Given the description of an element on the screen output the (x, y) to click on. 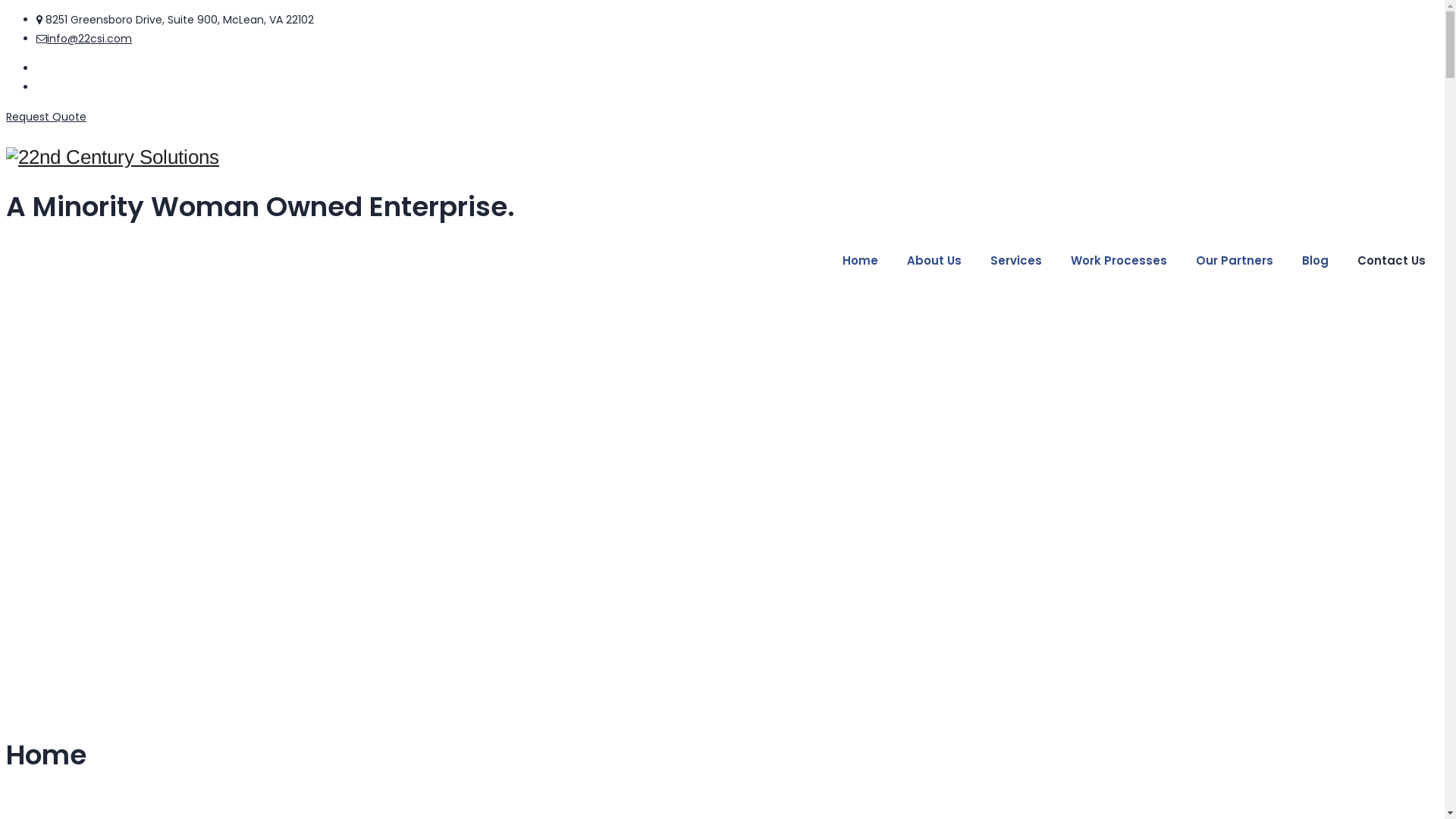
About Us Element type: text (934, 260)
Contact Us Element type: text (1391, 260)
Blog Element type: text (1315, 260)
Request Quote Element type: text (46, 116)
Our Partners Element type: text (1234, 260)
info@22csi.com Element type: text (89, 38)
Services Element type: text (1015, 260)
22nd Century Solutions Element type: hover (722, 157)
Home Element type: text (860, 260)
Work Processes Element type: text (1118, 260)
